Given the description of an element on the screen output the (x, y) to click on. 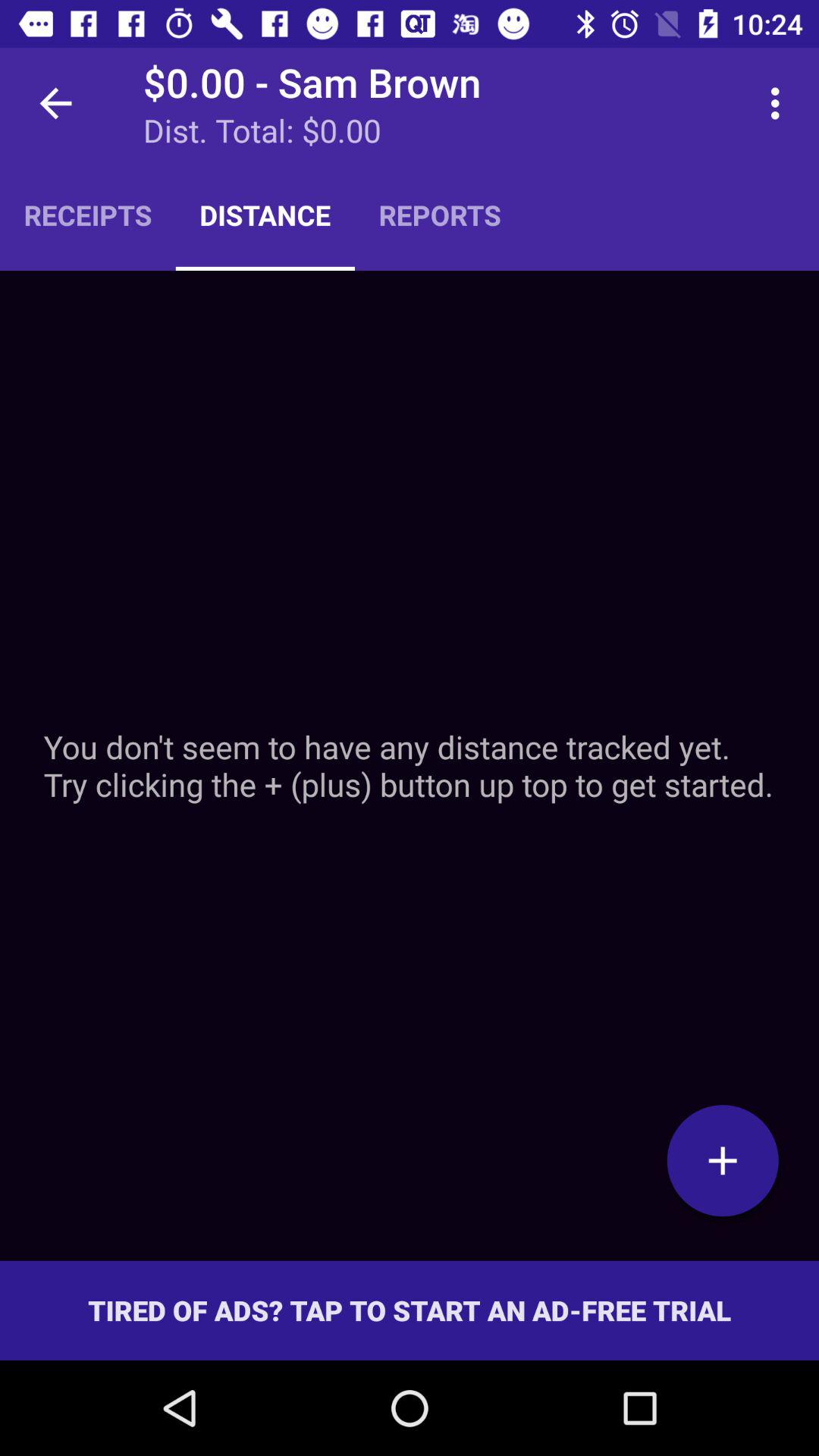
press item next to the distance (439, 214)
